Given the description of an element on the screen output the (x, y) to click on. 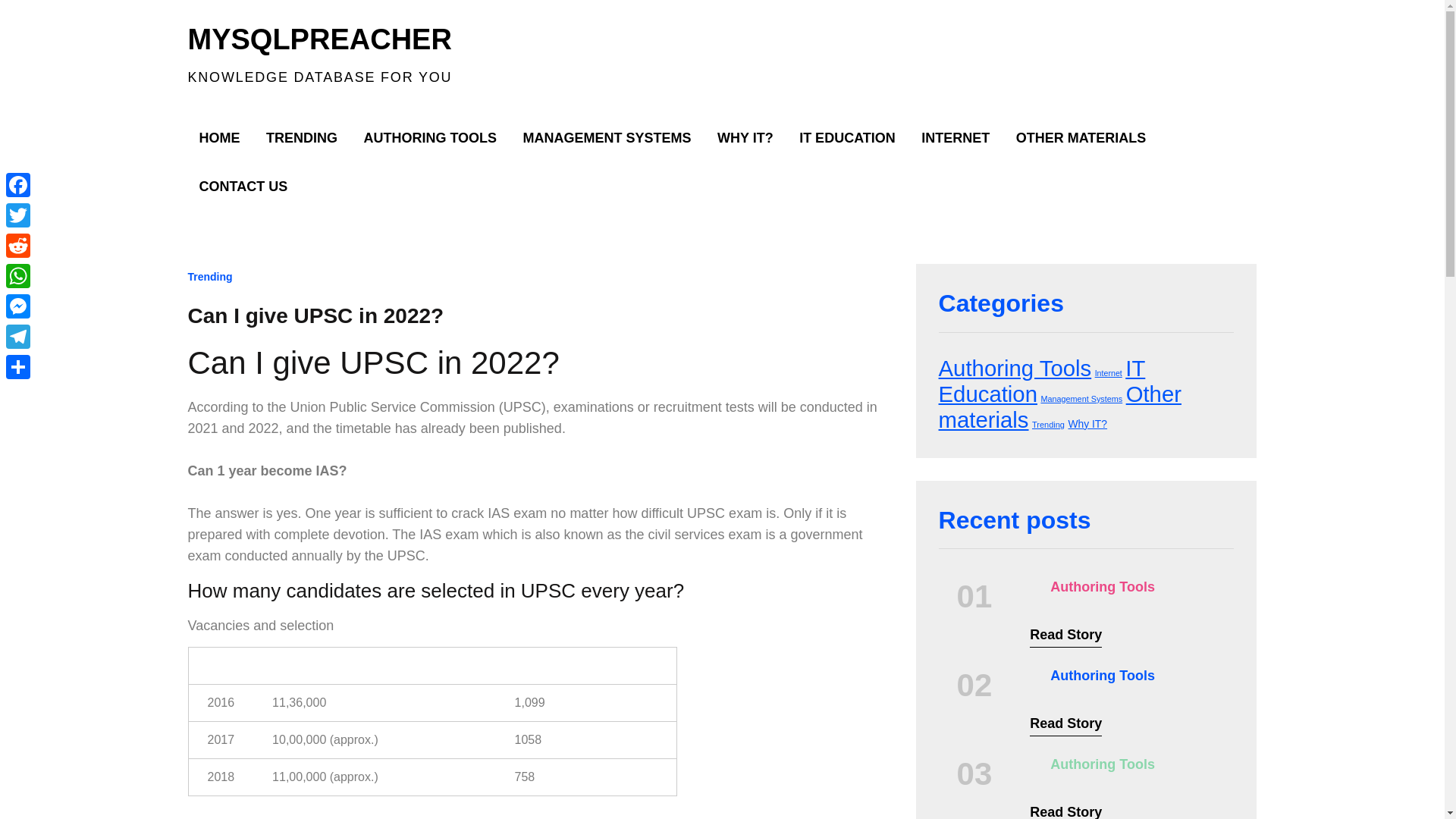
Authoring Tools (1101, 586)
MYSQLPREACHER (319, 39)
IT Education (1042, 380)
Can I give UPSC in 2022? (315, 315)
CONTACT US (243, 186)
IT EDUCATION (847, 137)
Read Story (1065, 725)
Messenger (17, 306)
Reddit (17, 245)
Why IT? (1086, 423)
